Given the description of an element on the screen output the (x, y) to click on. 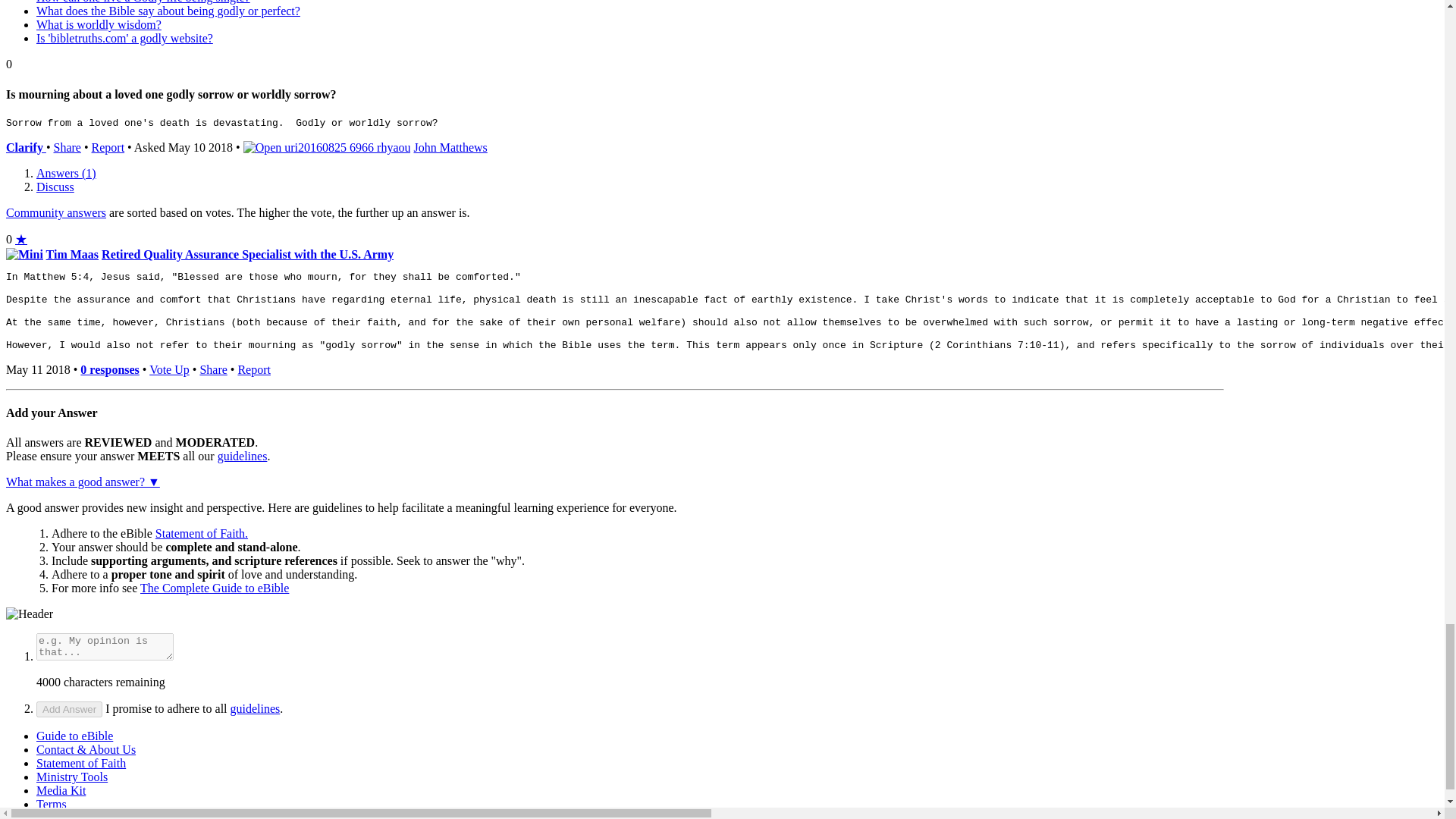
Add Answer (68, 709)
Vote Up (169, 369)
